Given the description of an element on the screen output the (x, y) to click on. 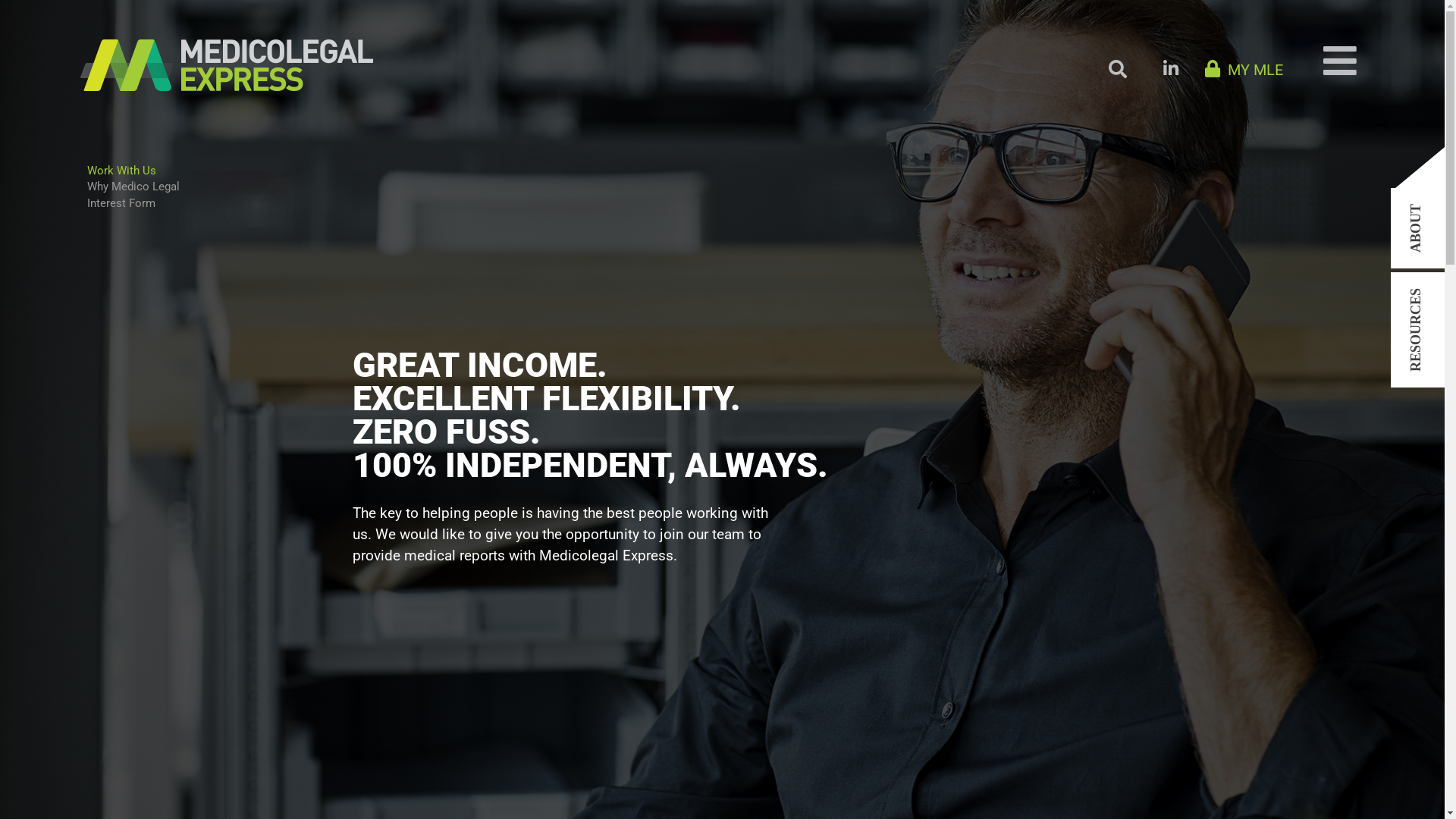
Why Medico Legal Element type: text (133, 186)
Work With Us Element type: text (121, 170)
Interest Form Element type: text (121, 203)
MY MLE Element type: text (1243, 69)
